Given the description of an element on the screen output the (x, y) to click on. 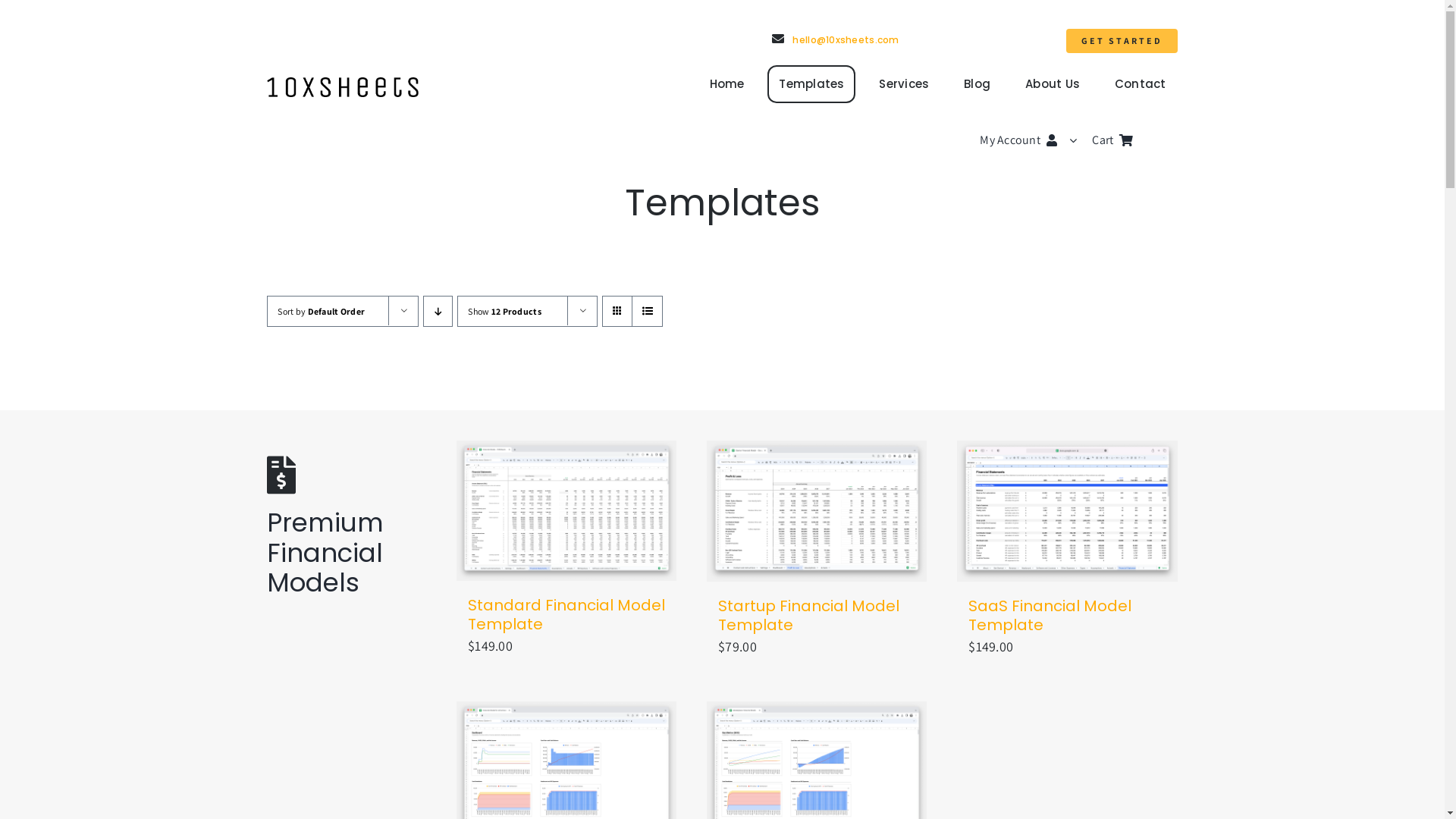
Services Element type: text (903, 84)
Cart Element type: text (1134, 140)
Templates Element type: text (811, 84)
Show 12 Products Element type: text (503, 310)
Sort by Default Order Element type: text (320, 310)
Startup Financial Model Template Element type: text (808, 615)
hello@10xsheets.com Element type: text (835, 39)
Log In Element type: text (1108, 300)
My Account Element type: text (1035, 140)
Standard Financial Model Template Element type: text (566, 614)
GET STARTED Element type: text (1121, 40)
SaaS Financial Model Template Element type: text (1049, 615)
Contact Element type: text (1140, 84)
About Us Element type: text (1052, 84)
Blog Element type: text (976, 84)
Home Element type: text (726, 84)
